Given the description of an element on the screen output the (x, y) to click on. 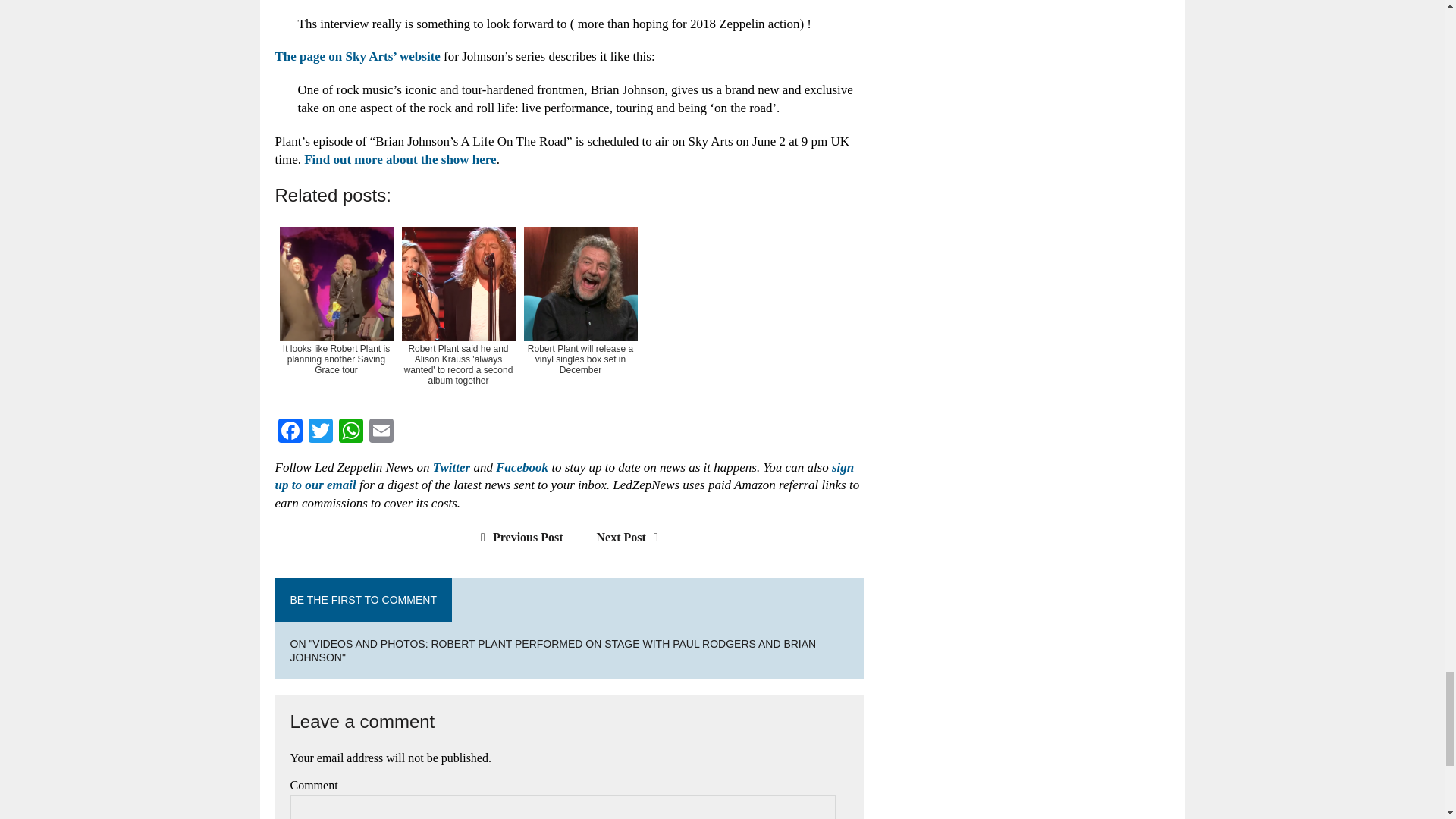
Email (380, 432)
WhatsApp (349, 432)
Twitter (319, 432)
Find out more about the show here (400, 159)
Facebook (289, 432)
Facebook (289, 432)
